Given the description of an element on the screen output the (x, y) to click on. 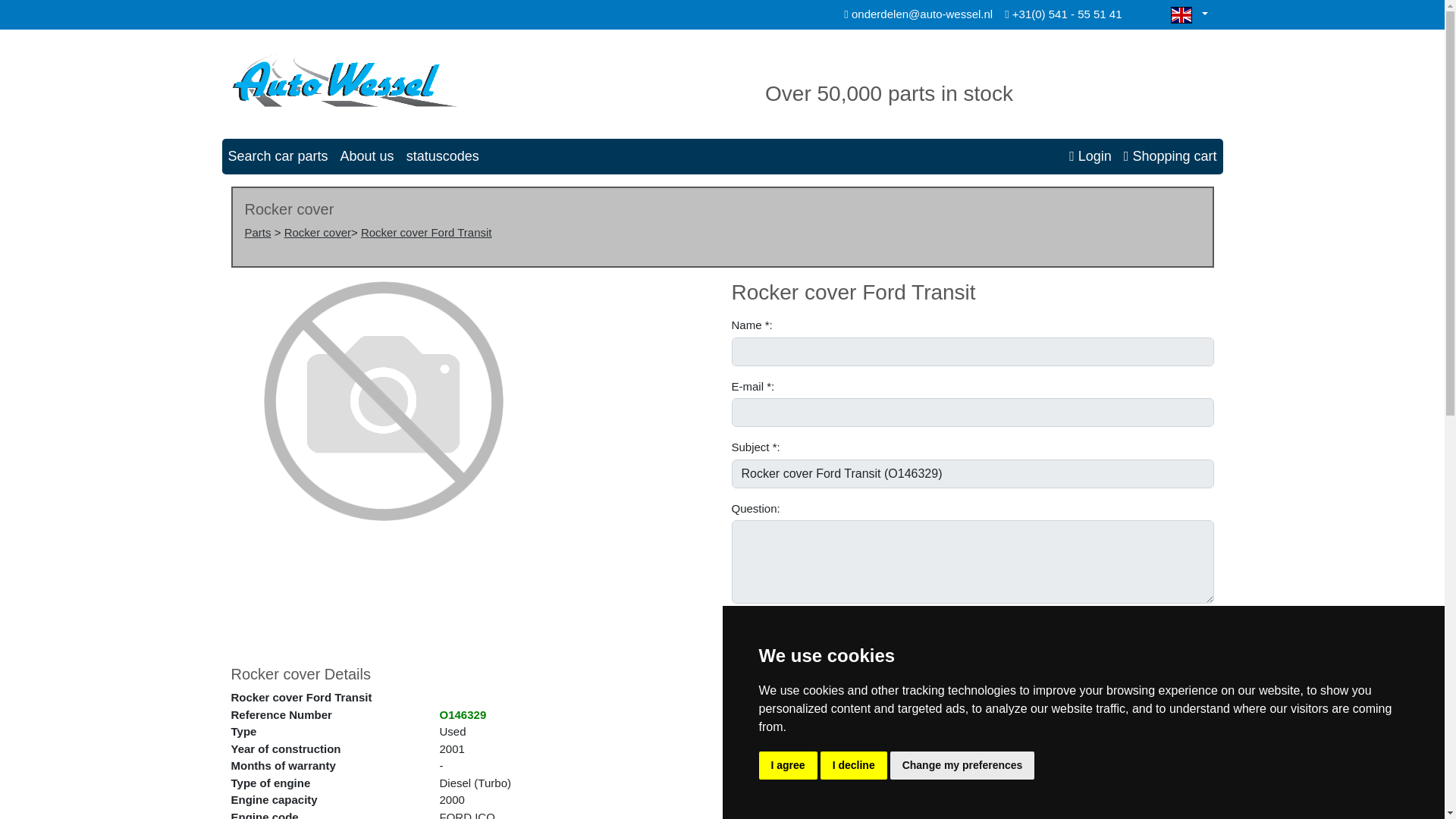
FORD (455, 814)
Login (1090, 156)
I agree (787, 765)
ICQ (484, 814)
Search car parts (277, 156)
About us (367, 156)
Shopping cart (1170, 156)
Rocker cover (316, 232)
Send (754, 627)
I decline (853, 765)
statuscodes (442, 156)
Rocker cover Ford Transit (426, 232)
Parts (257, 232)
Change my preferences (962, 765)
